Given the description of an element on the screen output the (x, y) to click on. 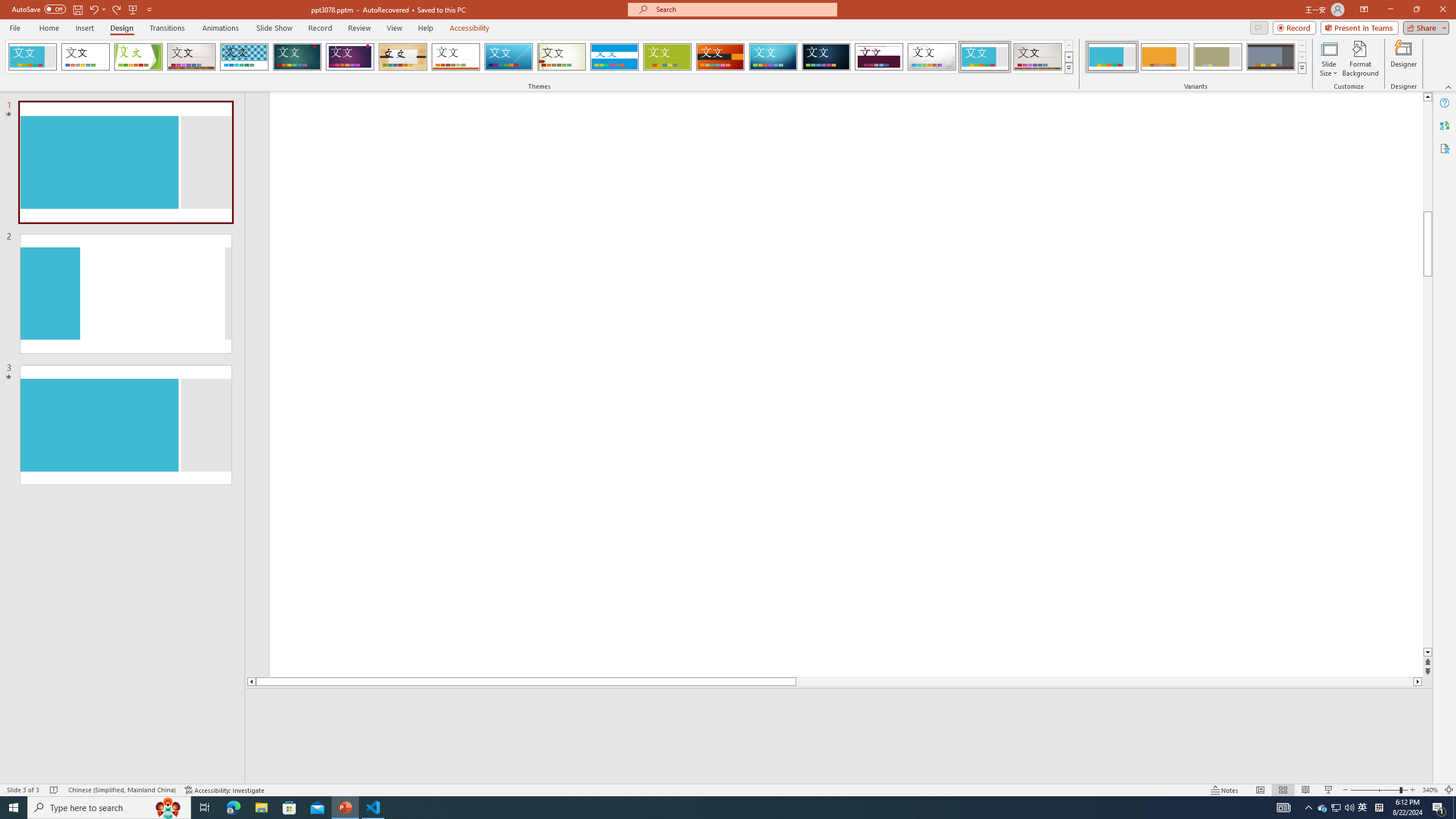
TextBox 7 (1417, 163)
